Given the description of an element on the screen output the (x, y) to click on. 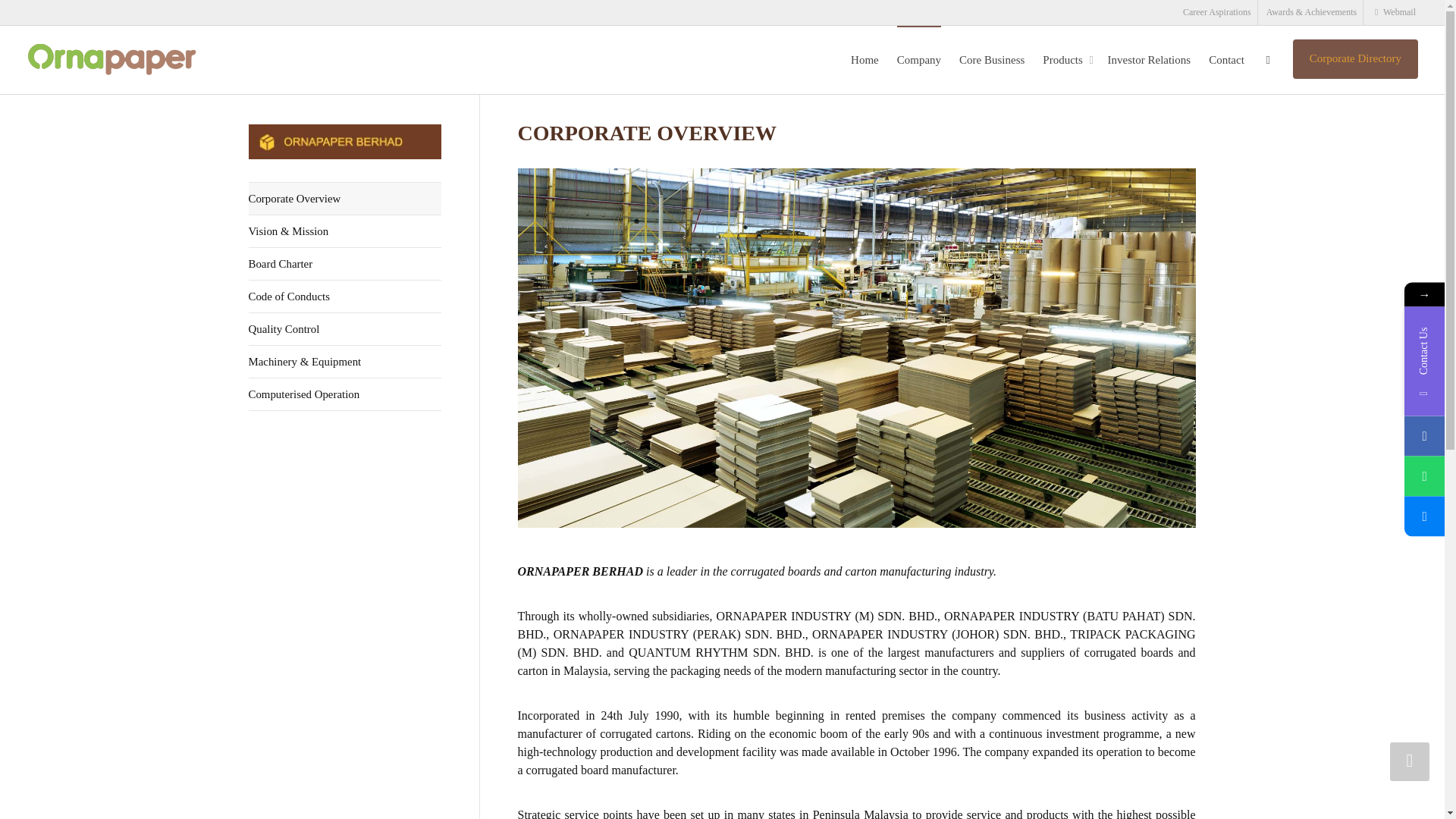
Code of Conducts (344, 296)
Corporate Directory (1355, 58)
Computerised Operation (344, 394)
Webmail (1393, 12)
Investor Relations (1149, 59)
Core Business (992, 59)
Board Charter (344, 264)
Webmail (1393, 12)
Core Business (992, 59)
Quality Control (344, 328)
Investor Relations (1149, 59)
Career Aspirations (1216, 12)
Corporate Overview (344, 198)
Career Aspirations (1216, 12)
